Given the description of an element on the screen output the (x, y) to click on. 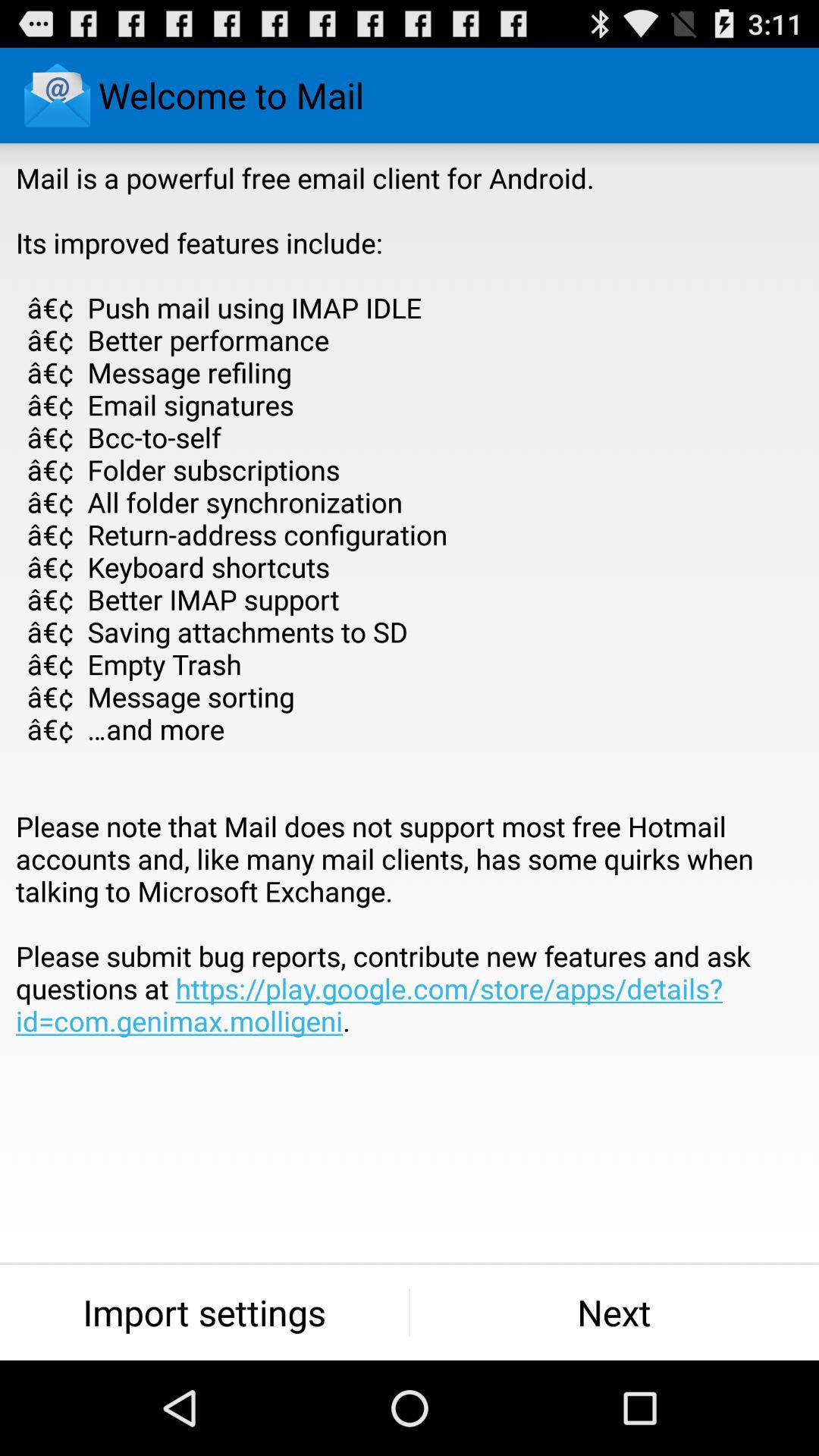
tap the next (614, 1312)
